Given the description of an element on the screen output the (x, y) to click on. 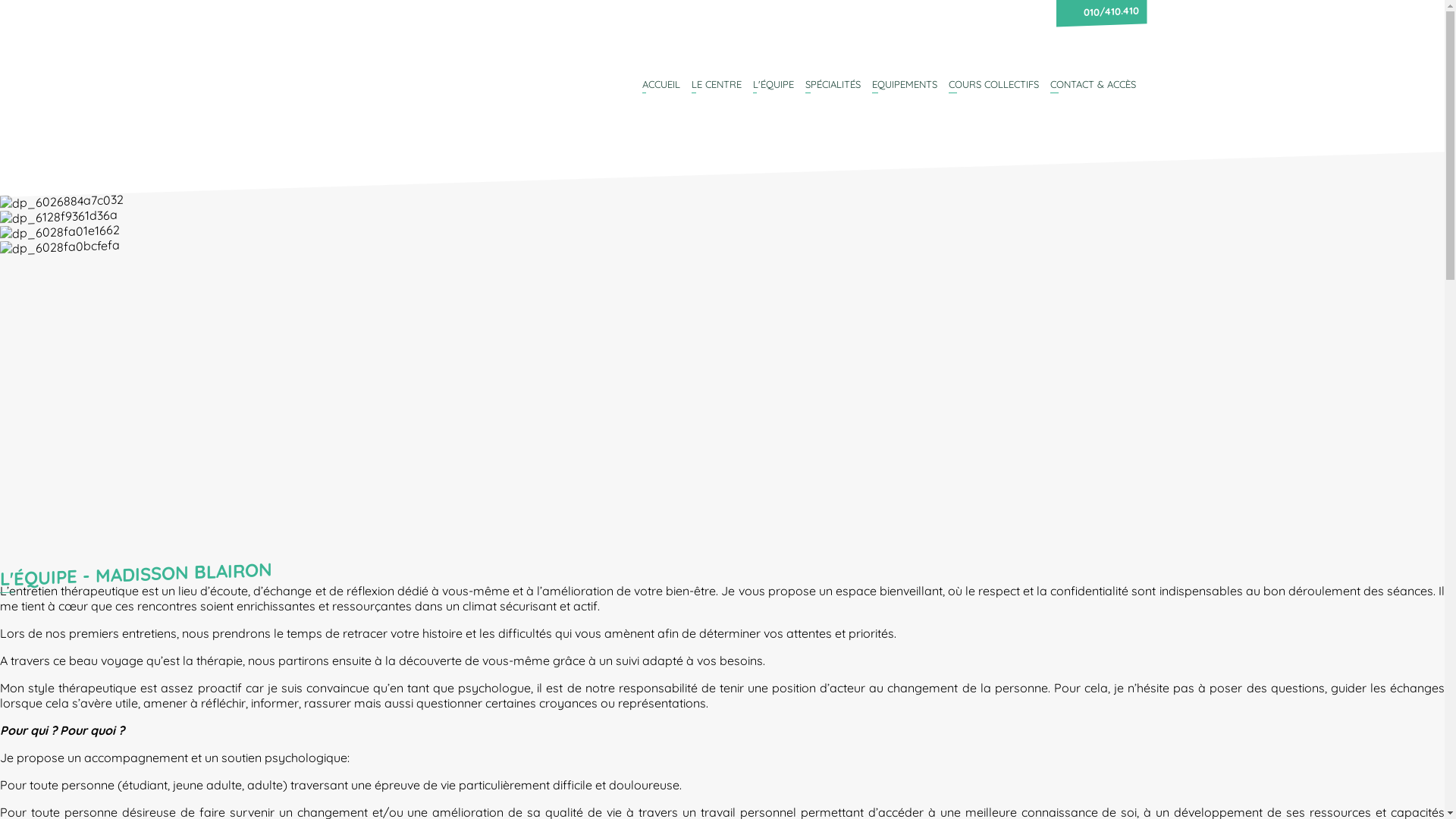
COURS COLLECTIFS Element type: text (992, 85)
ACCUEIL Element type: text (660, 85)
LE CENTRE Element type: text (716, 85)
010/410.410 Element type: text (1109, 10)
EQUIPEMENTS Element type: text (904, 85)
